Given the description of an element on the screen output the (x, y) to click on. 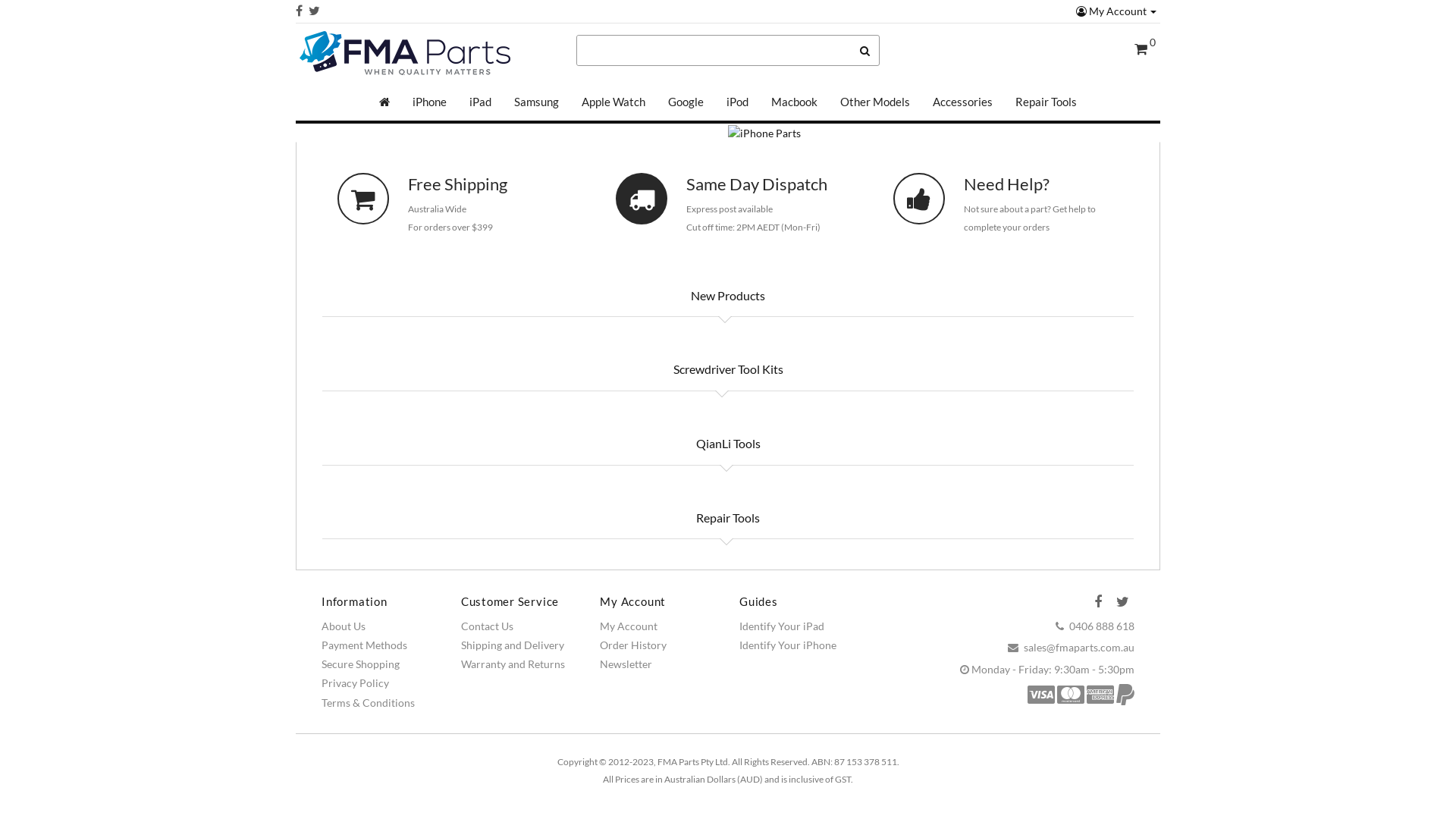
My Account Element type: text (628, 625)
iPad Element type: text (480, 101)
Macbook Element type: text (793, 101)
QianLi Tools Element type: text (727, 443)
Screwdriver Tool Kits Element type: text (727, 369)
Identify Your iPhone Element type: text (787, 644)
Secure Shopping Element type: text (360, 663)
Shipping and Delivery Element type: text (512, 644)
New Products Element type: text (727, 295)
iPhone Parts Element type: hover (764, 133)
0 Element type: text (1144, 49)
Apple Watch Element type: text (613, 101)
Contact Us Element type: text (487, 625)
iPhone Element type: text (429, 101)
Samsung Element type: text (536, 101)
Repair Tools Element type: text (1046, 101)
Accessories Element type: text (962, 101)
Warranty and Returns Element type: text (512, 663)
iPod Element type: text (737, 101)
Newsletter Element type: text (625, 663)
Repair Tools Element type: text (727, 517)
Identify Your iPad Element type: text (781, 625)
Privacy Policy Element type: text (355, 682)
Google Element type: text (685, 101)
Terms & Conditions Element type: text (367, 702)
Home Element type: hover (384, 101)
Other Models Element type: text (874, 101)
Payment Methods Element type: text (364, 644)
About Us Element type: text (343, 625)
Order History Element type: text (632, 644)
My Account Element type: text (1116, 10)
